Given the description of an element on the screen output the (x, y) to click on. 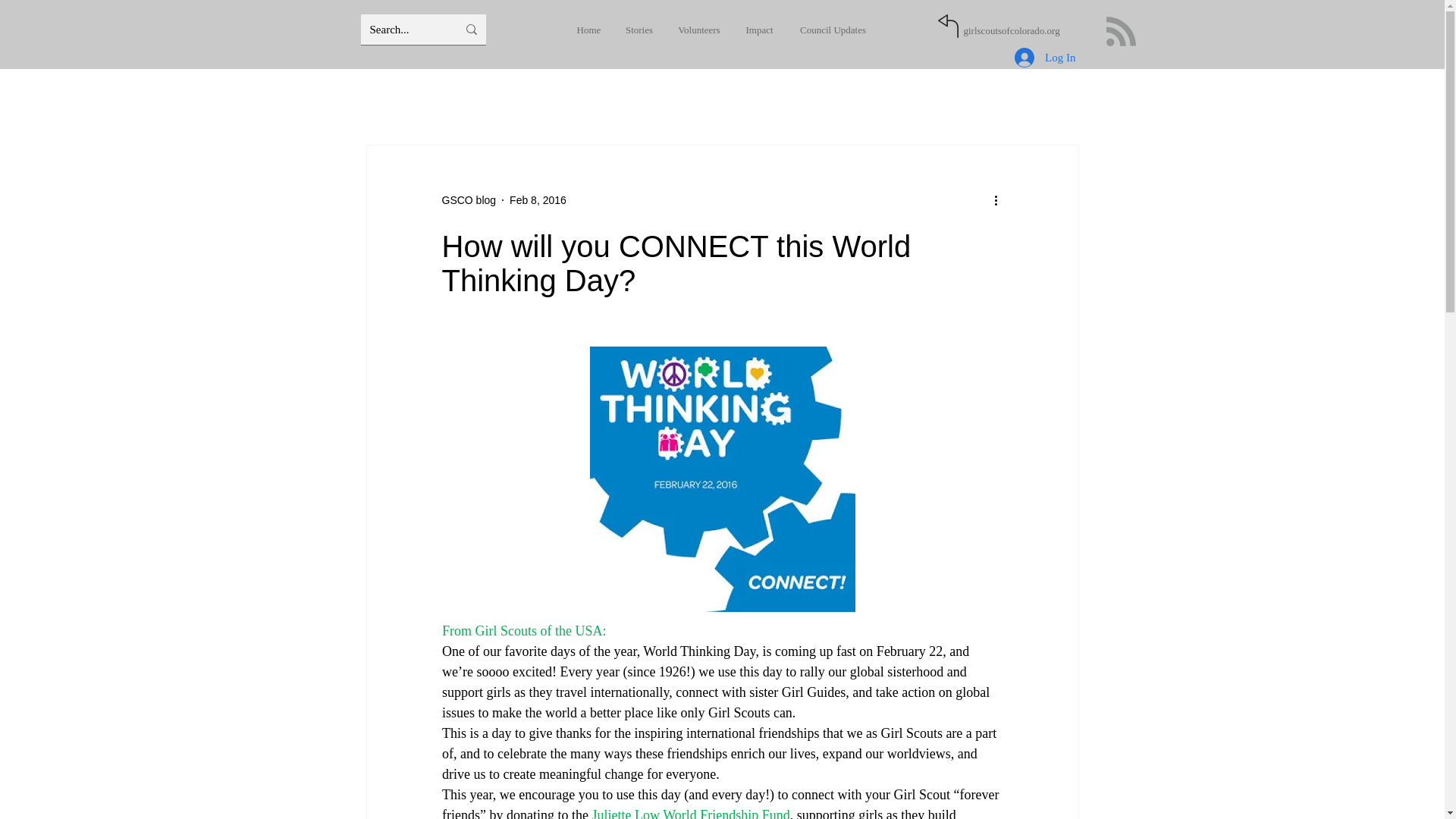
GSCO blog (468, 200)
From Girl Scouts of the USA: (523, 630)
Feb 8, 2016 (537, 200)
girlscoutsofcolorado.org (1010, 30)
Volunteers (699, 29)
Juliette Low World Friendship Fund (690, 813)
Council Updates (832, 29)
Log In (1045, 57)
GSCO blog (468, 200)
Impact (759, 29)
Stories (638, 29)
Home (588, 29)
